Given the description of an element on the screen output the (x, y) to click on. 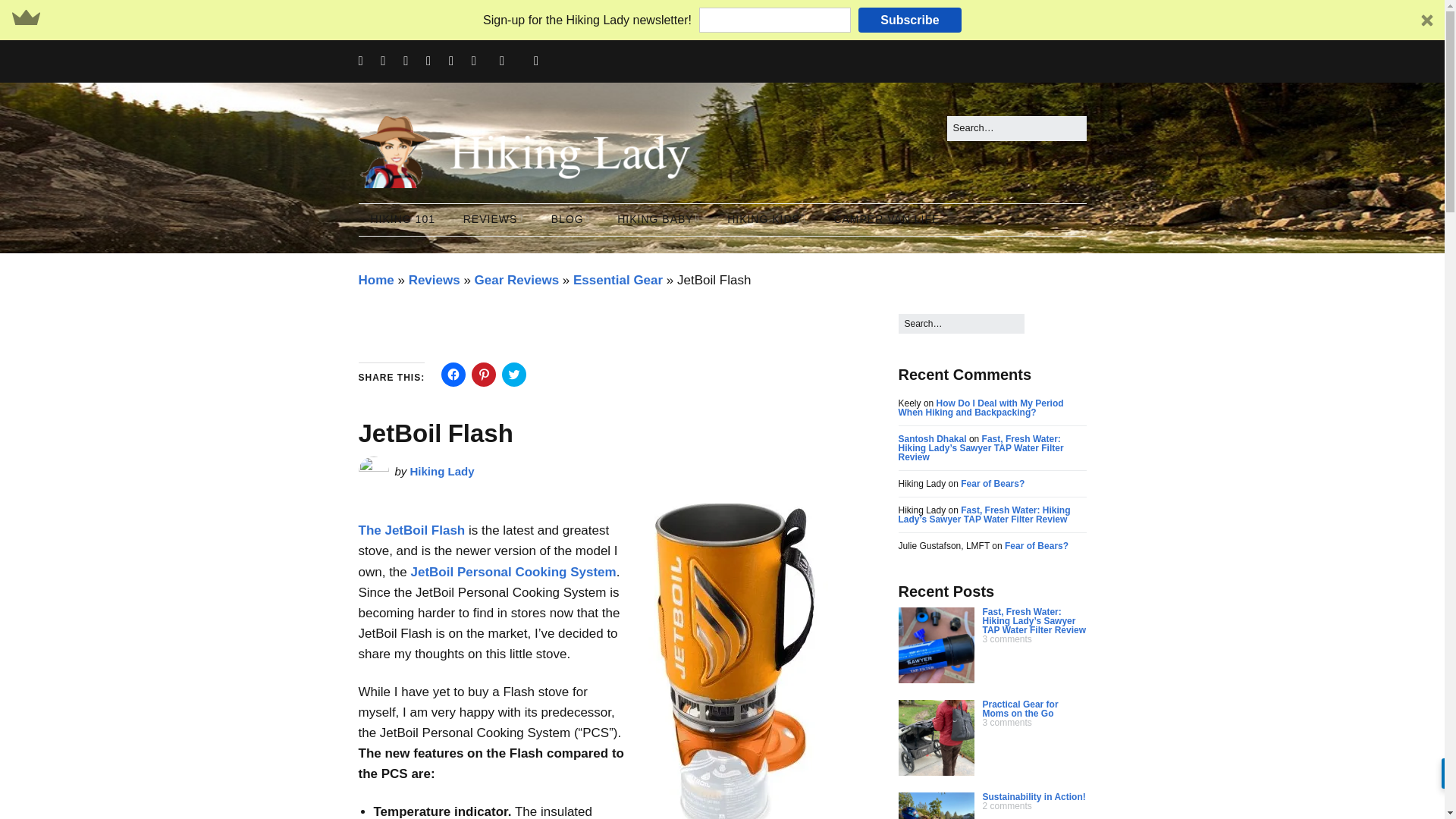
HIKING KIDS (766, 219)
REVIEWS (493, 219)
Click to share on Twitter (513, 374)
Press Enter to submit your search (1016, 128)
Essential Gear (617, 279)
Reviews (434, 279)
Hiking Lady (442, 471)
Click to share on Facebook (453, 374)
HIKING BABY (658, 219)
BLOG (570, 219)
HIKING 101 (402, 219)
Gear Reviews (516, 279)
CAMPER VAN LIFE (886, 219)
Click to share on Pinterest (483, 374)
